Given the description of an element on the screen output the (x, y) to click on. 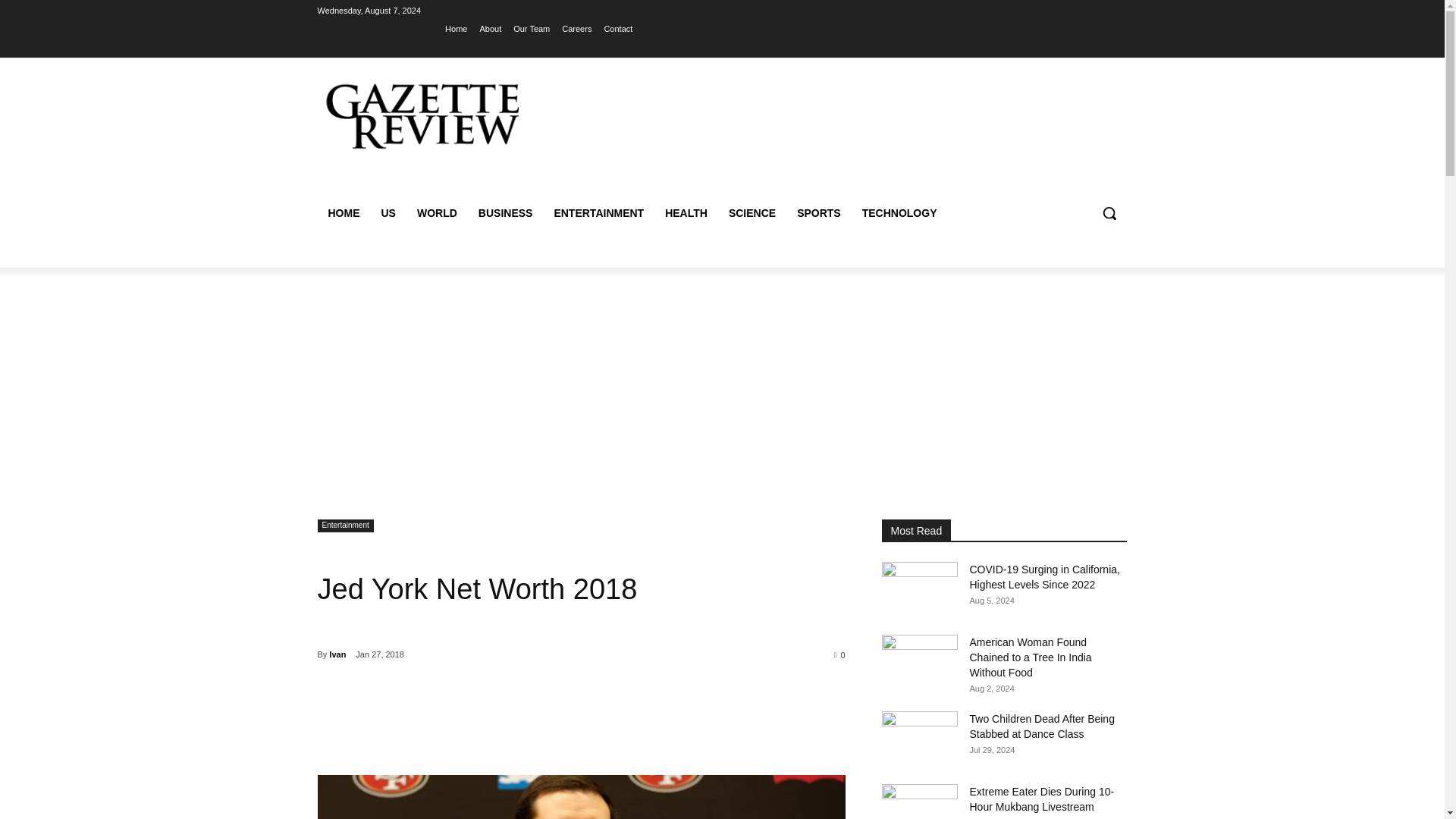
WORLD (436, 212)
Contact (617, 28)
SCIENCE (751, 212)
Careers (576, 28)
US (387, 212)
Home (456, 28)
HEALTH (685, 212)
Entertainment (344, 525)
HOME (343, 212)
0 (839, 654)
About (489, 28)
BUSINESS (505, 212)
Our Team (531, 28)
TECHNOLOGY (899, 212)
